Given the description of an element on the screen output the (x, y) to click on. 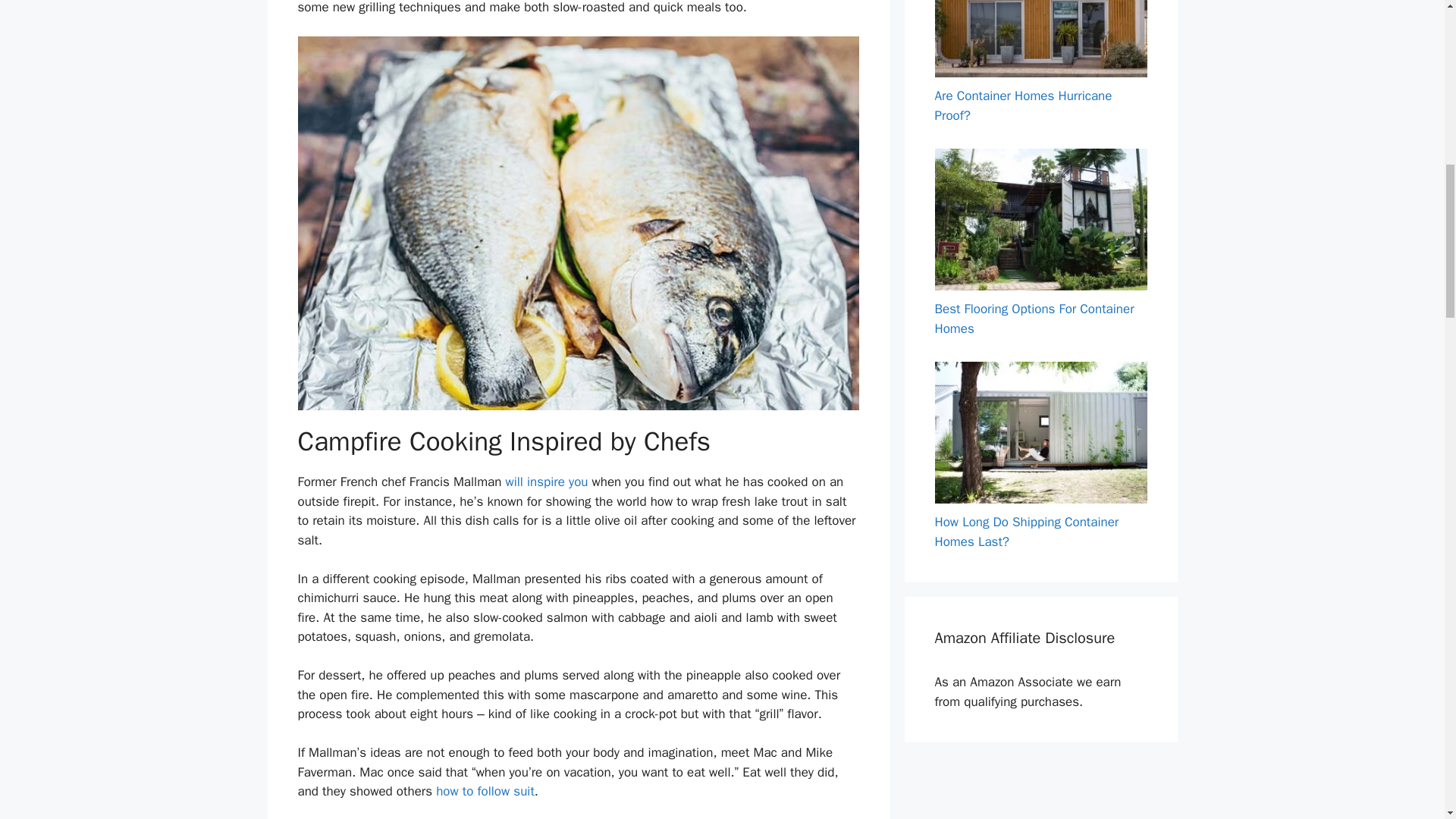
how to follow suit (484, 790)
will inspire you (546, 481)
Scroll back to top (1406, 720)
Are Container Homes Hurricane Proof? (1023, 105)
Best Flooring Options For Container Homes (1034, 318)
How Long Do Shipping Container Homes Last? (1026, 531)
